Given the description of an element on the screen output the (x, y) to click on. 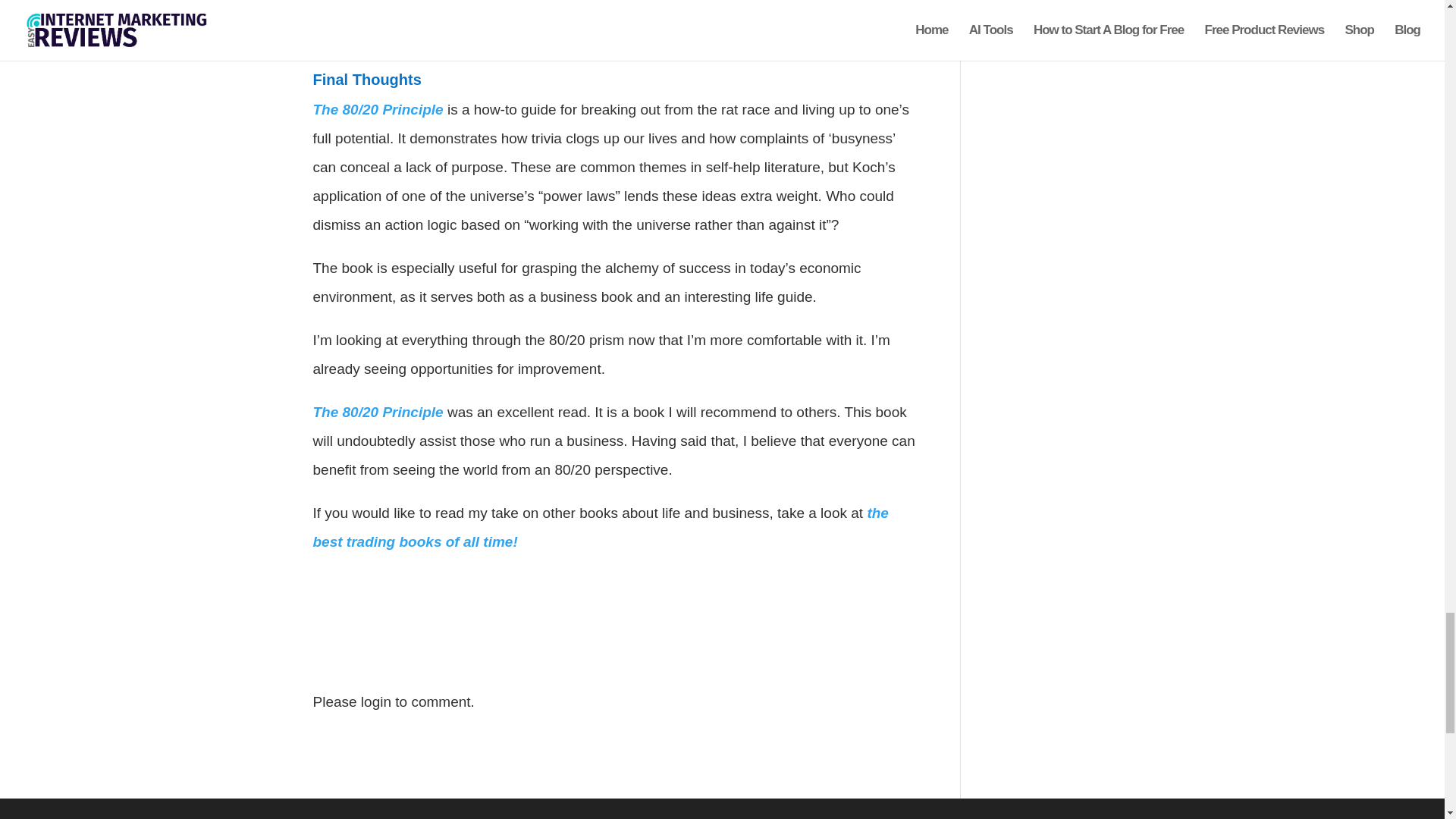
the best trading books of all time! (600, 527)
